Given the description of an element on the screen output the (x, y) to click on. 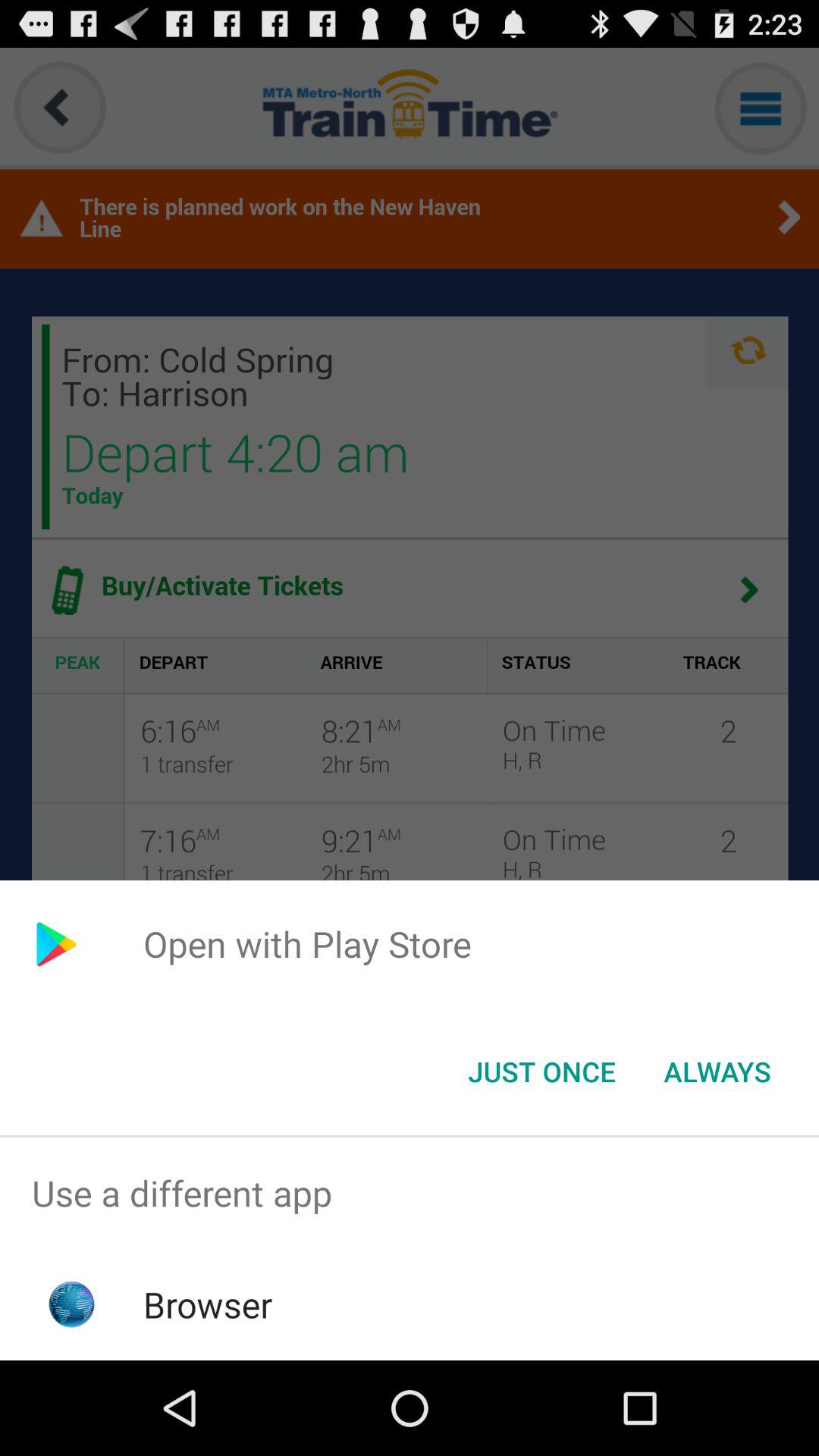
open button next to always icon (541, 1071)
